Given the description of an element on the screen output the (x, y) to click on. 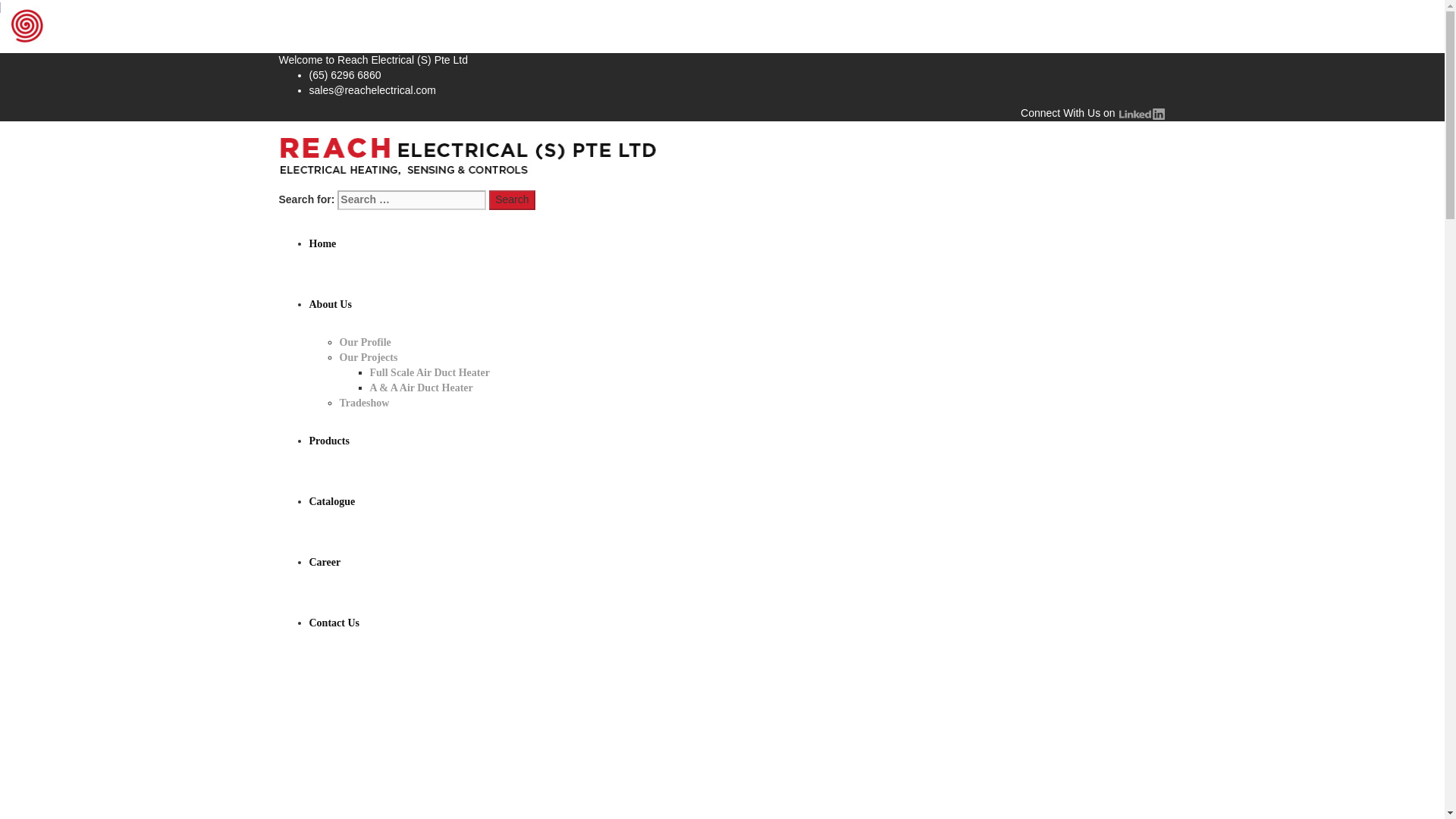
Career (324, 562)
Home (293, 804)
Contact Us (333, 622)
Products (328, 804)
Heating (367, 804)
Ceramic Infrared Heaters (447, 804)
Tradeshow (364, 402)
Catalogue (331, 501)
Elstein Accessories (556, 804)
Our Profile (365, 342)
